Given the description of an element on the screen output the (x, y) to click on. 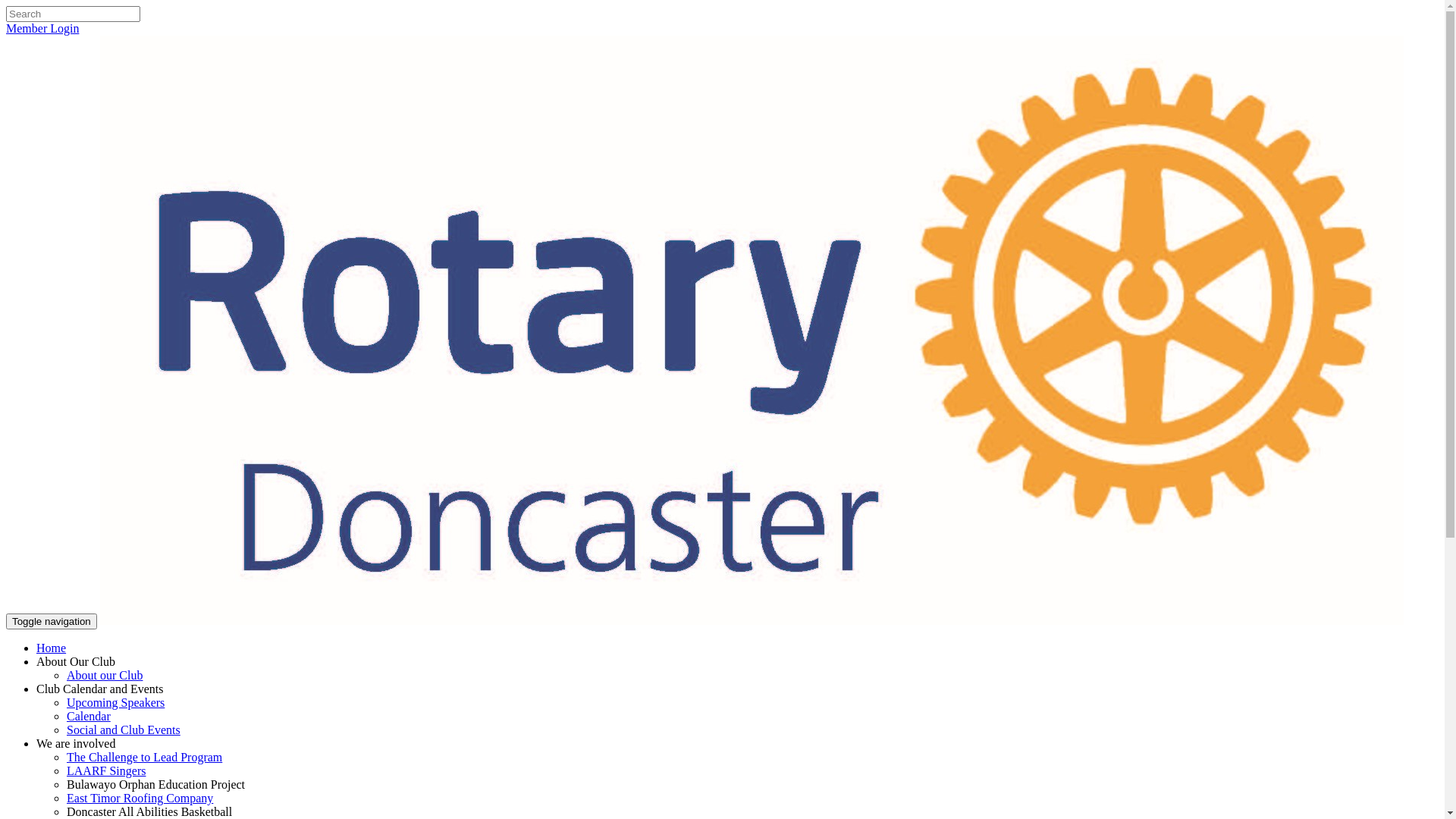
Toggle navigation Element type: text (51, 621)
The Challenge to Lead Program Element type: text (144, 756)
Calendar Element type: text (88, 715)
Club Calendar and Events Element type: text (99, 688)
Home Element type: text (50, 647)
About Our Club Element type: text (75, 661)
About our Club Element type: text (104, 674)
We are involved Element type: text (75, 743)
East Timor Roofing Company Element type: text (139, 797)
Upcoming Speakers Element type: text (115, 702)
Member Login Element type: text (42, 27)
LAARF Singers Element type: text (105, 770)
Social and Club Events Element type: text (123, 729)
